Given the description of an element on the screen output the (x, y) to click on. 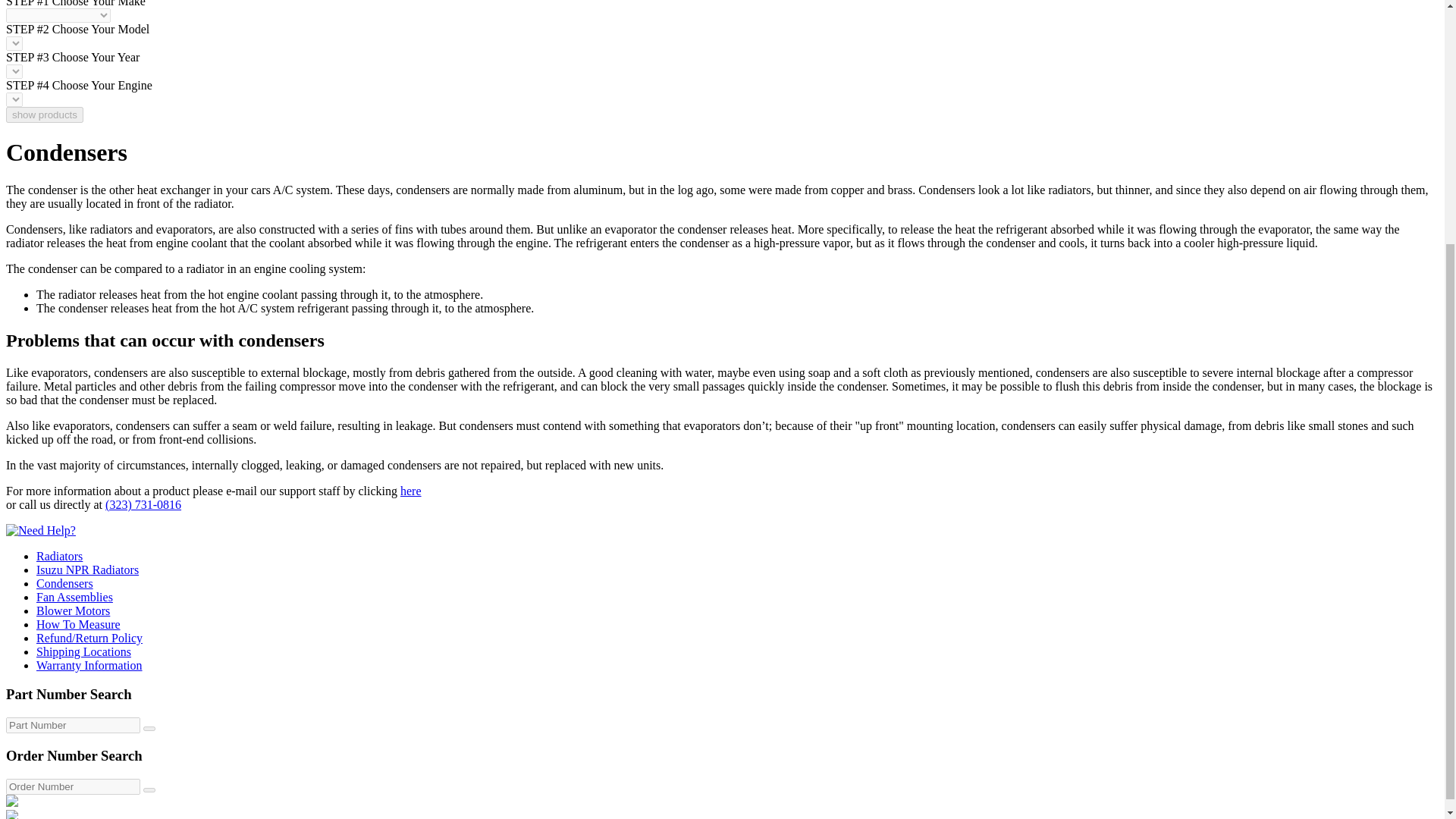
Shipping Locations (83, 651)
show products (43, 114)
Condensers (64, 583)
here (411, 490)
How To Measure (78, 624)
Fan Assemblies (74, 596)
Blower Motors (73, 610)
Radiators (59, 555)
Warranty Information (89, 665)
Isuzu NPR Radiators (87, 569)
